Given the description of an element on the screen output the (x, y) to click on. 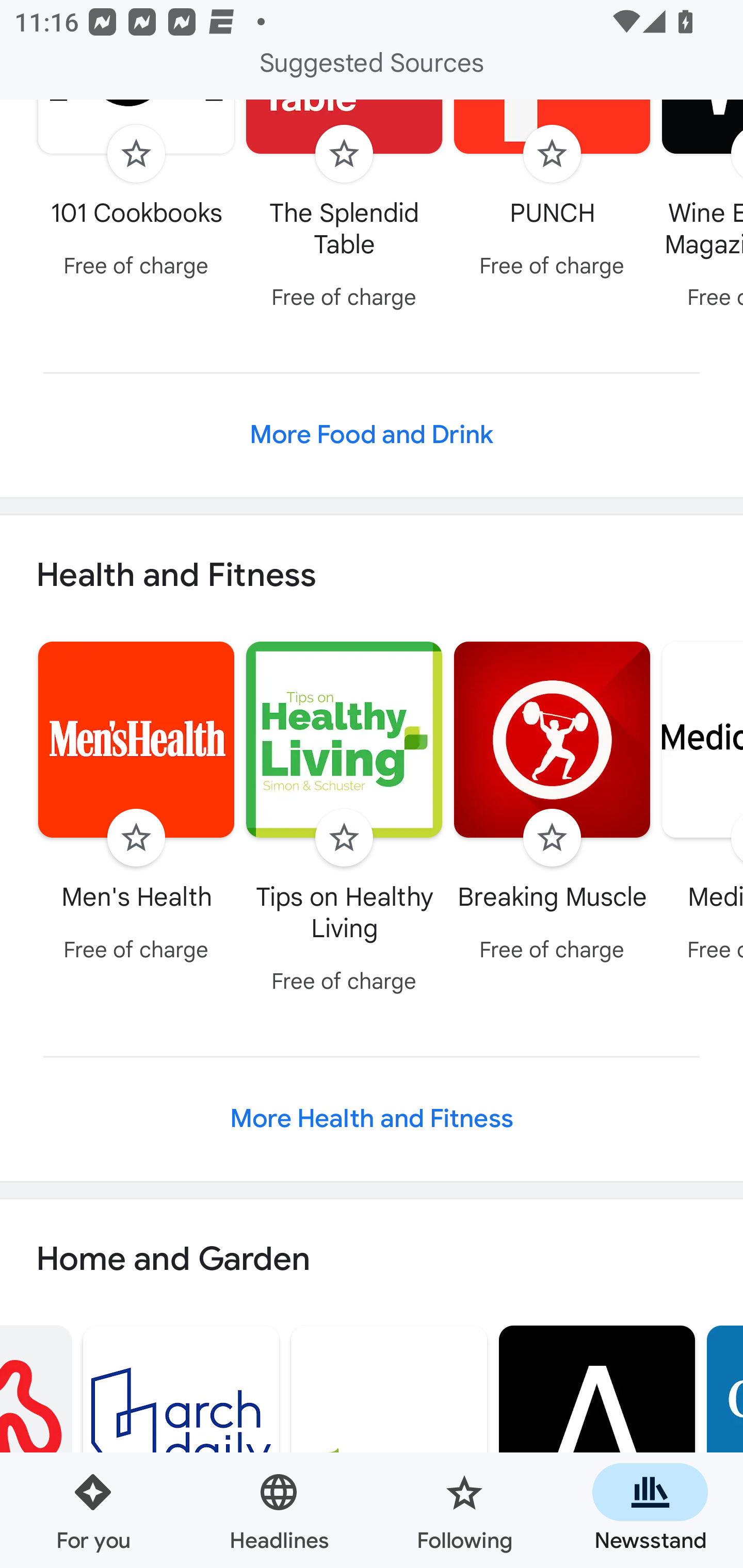
Follow 101 Cookbooks Free of charge (136, 194)
Follow The Splendid Table Free of charge (344, 209)
Follow PUNCH Free of charge (552, 194)
Follow (135, 153)
Follow (343, 153)
Follow (552, 153)
More Food and Drink (371, 435)
Health and Fitness (371, 575)
Follow Men's Health Free of charge (136, 804)
Follow Tips on Healthy Living Free of charge (344, 820)
Follow Breaking Muscle Free of charge (552, 804)
Follow (135, 838)
Follow (343, 838)
Follow (552, 838)
More Health and Fitness (371, 1118)
Home and Garden (371, 1259)
For you (92, 1509)
Headlines (278, 1509)
Following (464, 1509)
Newsstand (650, 1509)
